Given the description of an element on the screen output the (x, y) to click on. 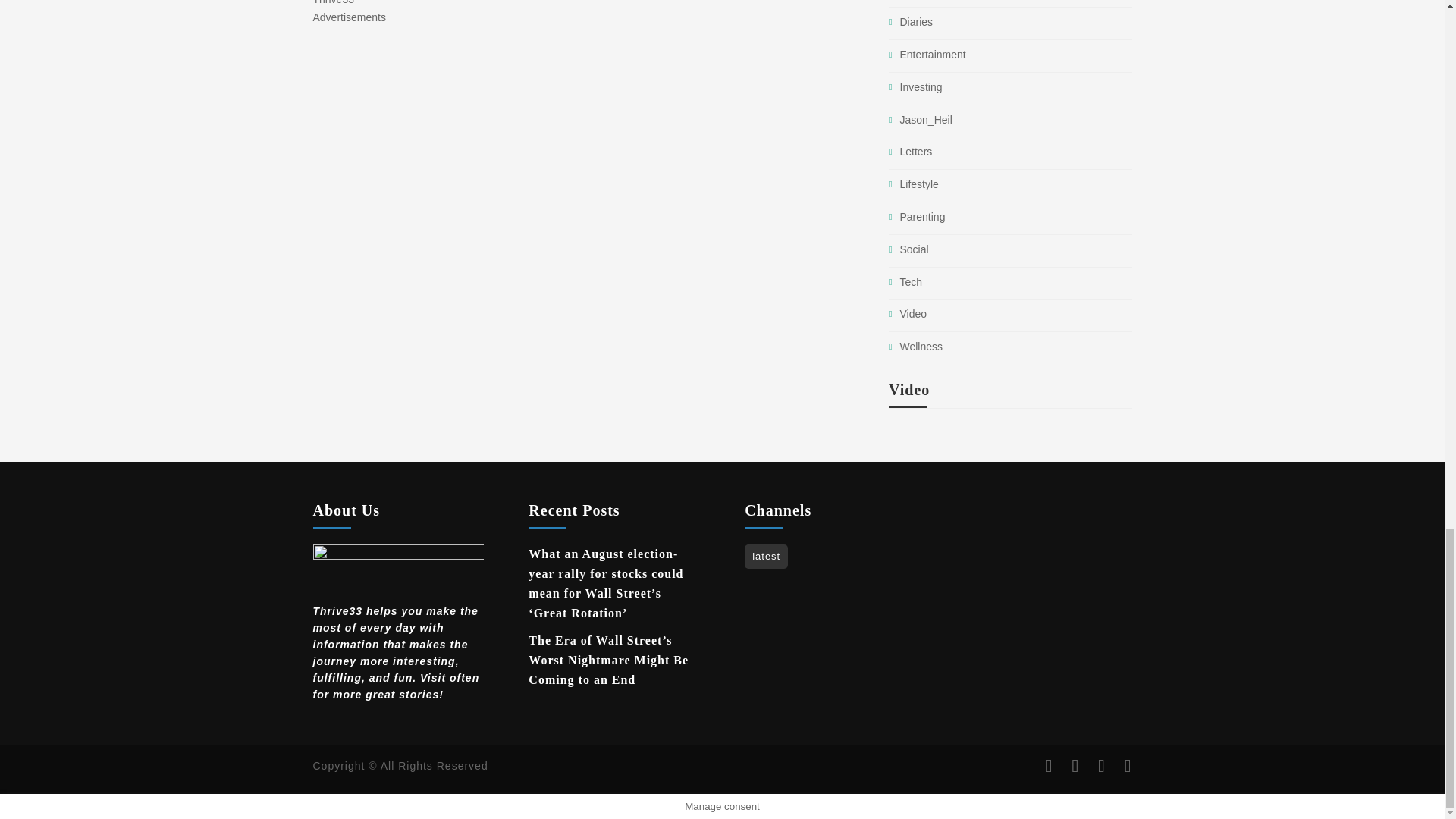
Diaries (916, 21)
Lifestyle (918, 184)
Wellness (920, 346)
Tech (910, 282)
Investing (920, 87)
Letters (915, 151)
Parenting (921, 216)
Entertainment (932, 54)
Social (913, 249)
Video (912, 313)
